Given the description of an element on the screen output the (x, y) to click on. 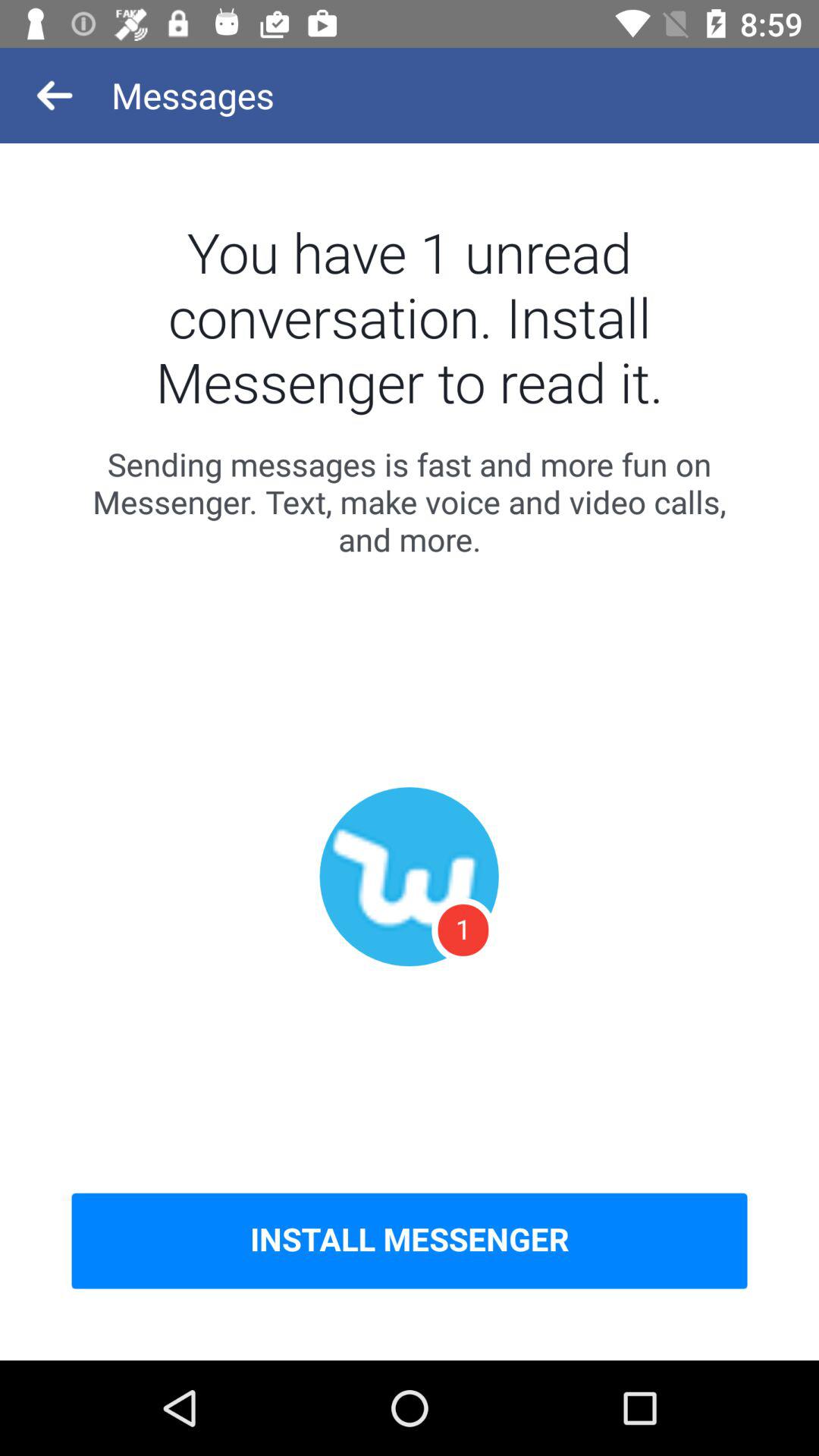
click item above the you have 1 icon (55, 95)
